Given the description of an element on the screen output the (x, y) to click on. 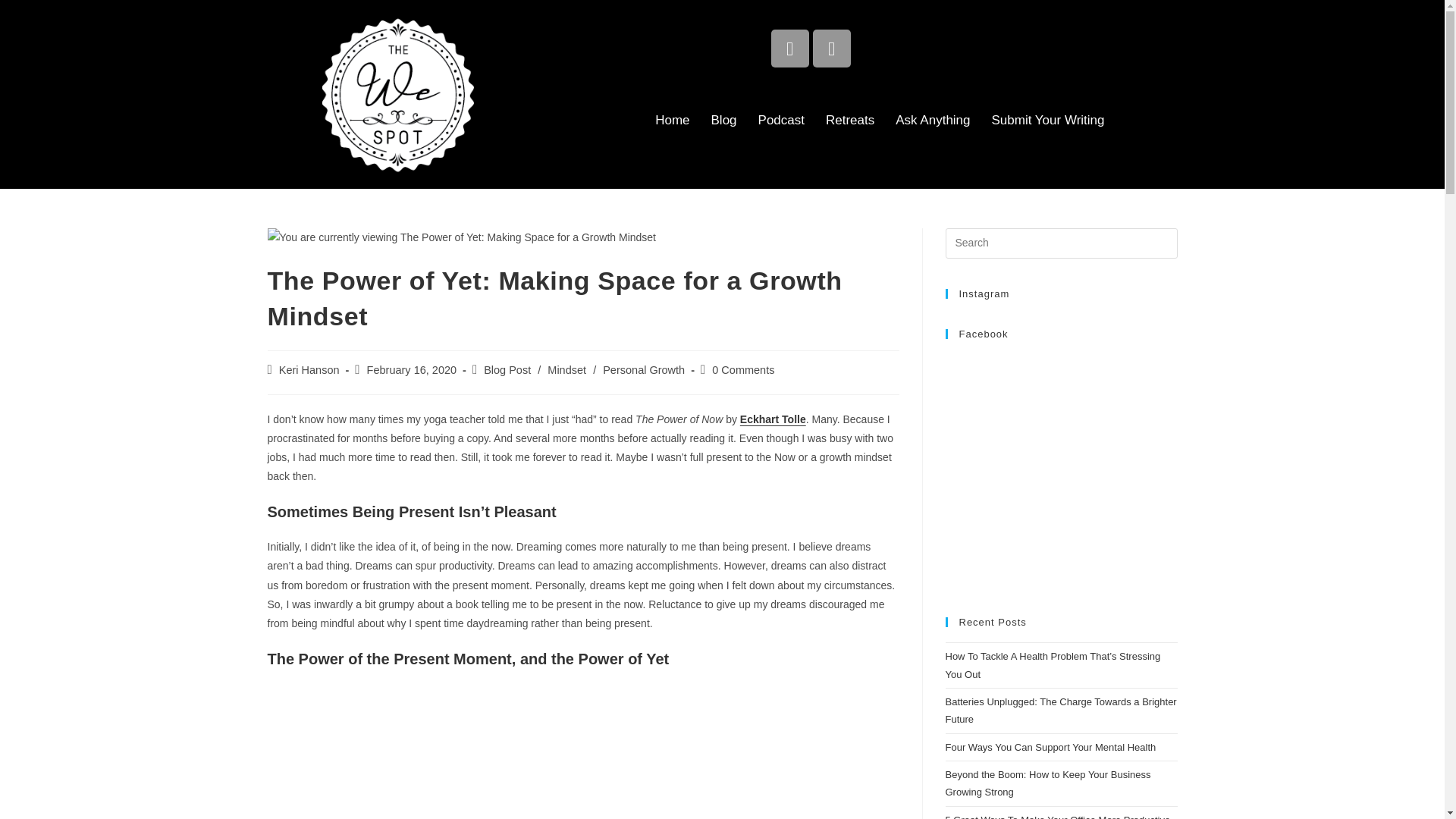
Mindset (566, 369)
cropped-TheWeSpotLogo-WhiteAndSolidBlack.png (397, 94)
Personal Growth (643, 369)
0 Comments (742, 369)
Blog Post (507, 369)
Keri Hanson (309, 369)
Retreats (850, 120)
Eckhart Tolle (772, 419)
Posts by Keri Hanson (309, 369)
Podcast (781, 120)
Submit Your Writing (1048, 120)
Ask Anything (932, 120)
